Given the description of an element on the screen output the (x, y) to click on. 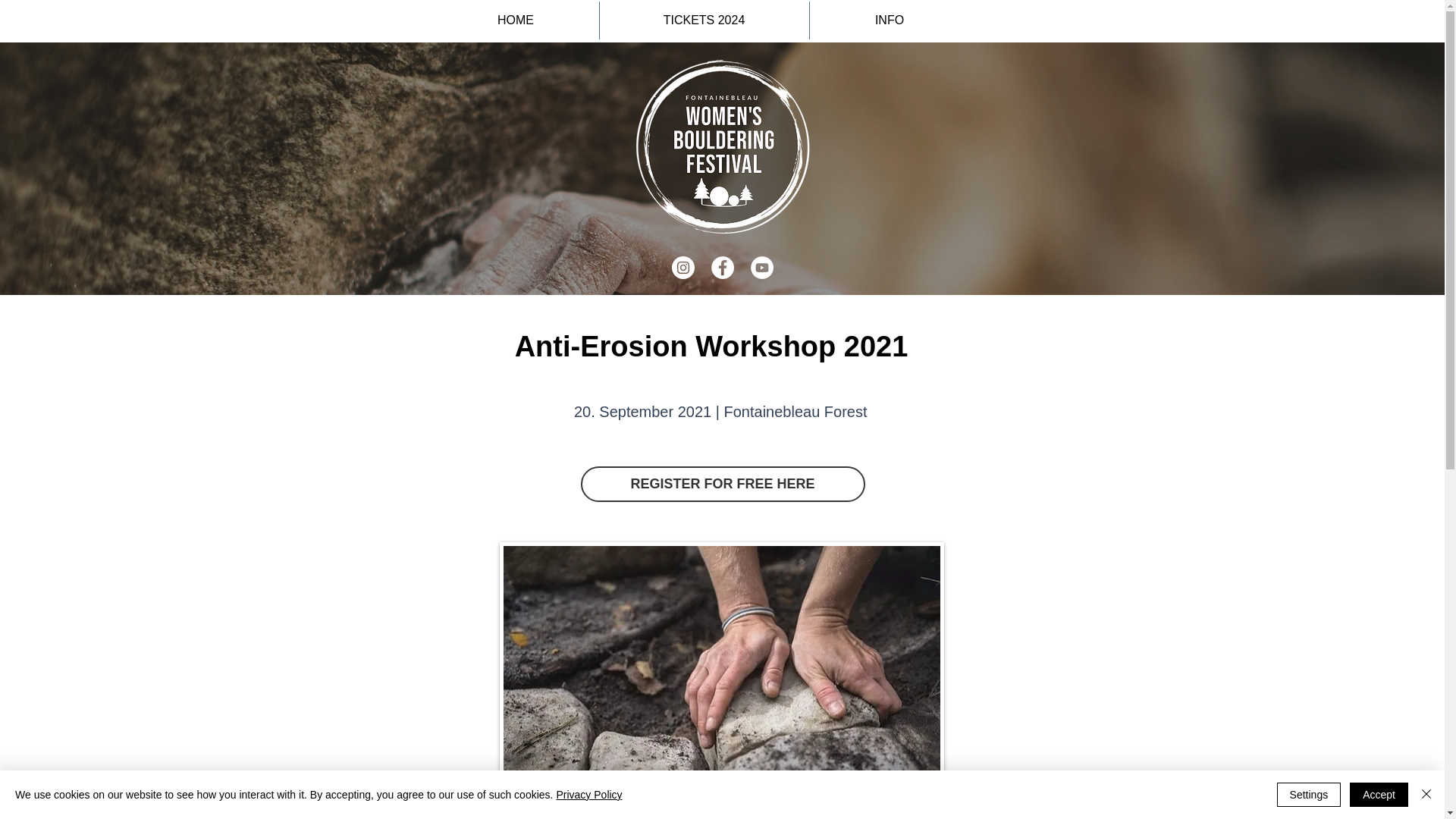
HOME (515, 20)
REGISTER FOR FREE HERE (722, 484)
Settings (1308, 794)
TICKETS 2024 (703, 20)
Accept (1378, 794)
Privacy Policy (588, 794)
